Given the description of an element on the screen output the (x, y) to click on. 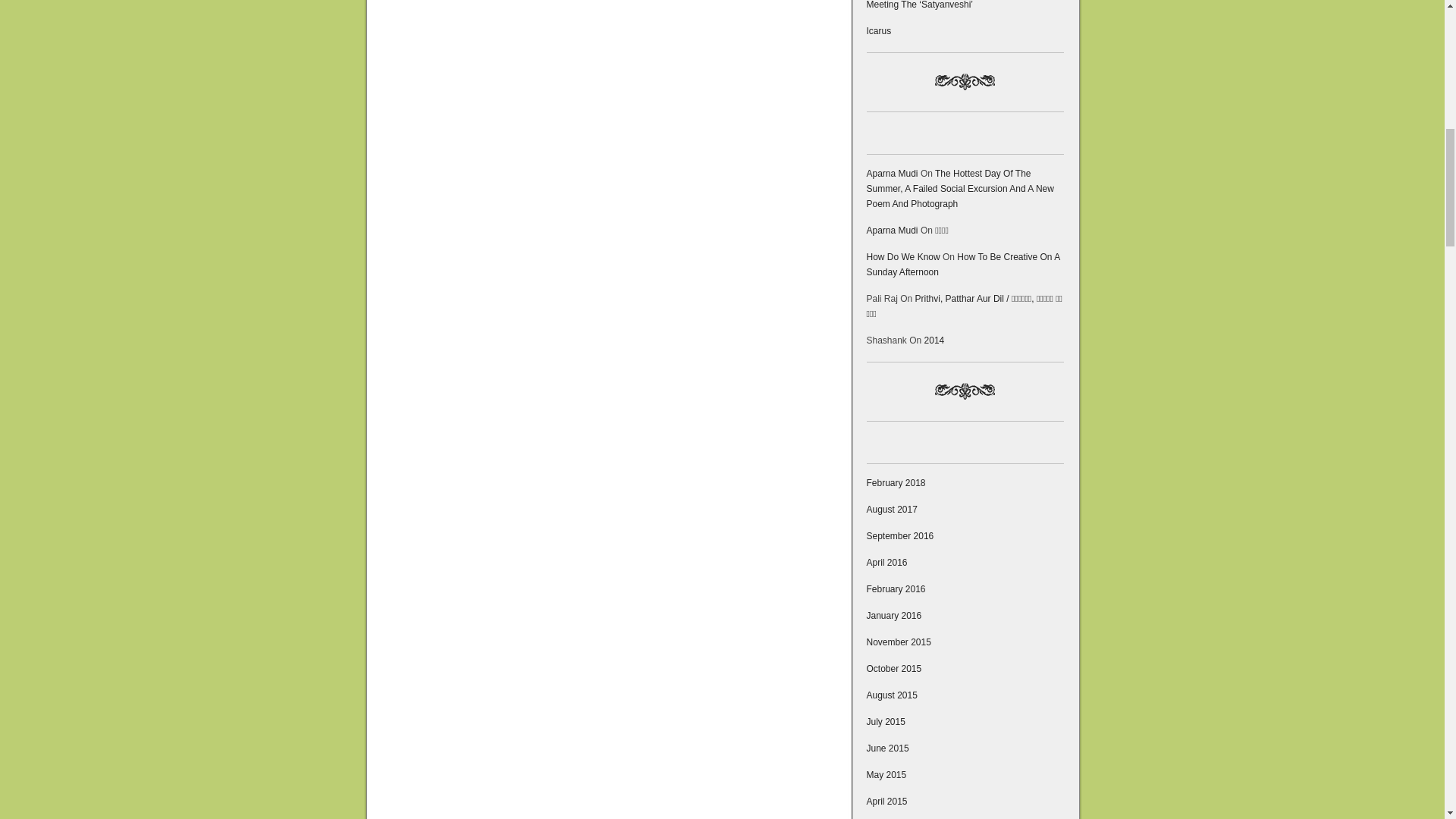
2014 (934, 339)
February 2016 (895, 588)
Icarus (878, 30)
August 2017 (891, 509)
January 2016 (893, 615)
September 2016 (899, 535)
August 2015 (891, 695)
How Do We Know (902, 256)
Aparna Mudi (891, 173)
Aparna Mudi (891, 230)
July 2015 (885, 721)
November 2015 (898, 642)
April 2016 (886, 562)
February 2018 (895, 482)
